Given the description of an element on the screen output the (x, y) to click on. 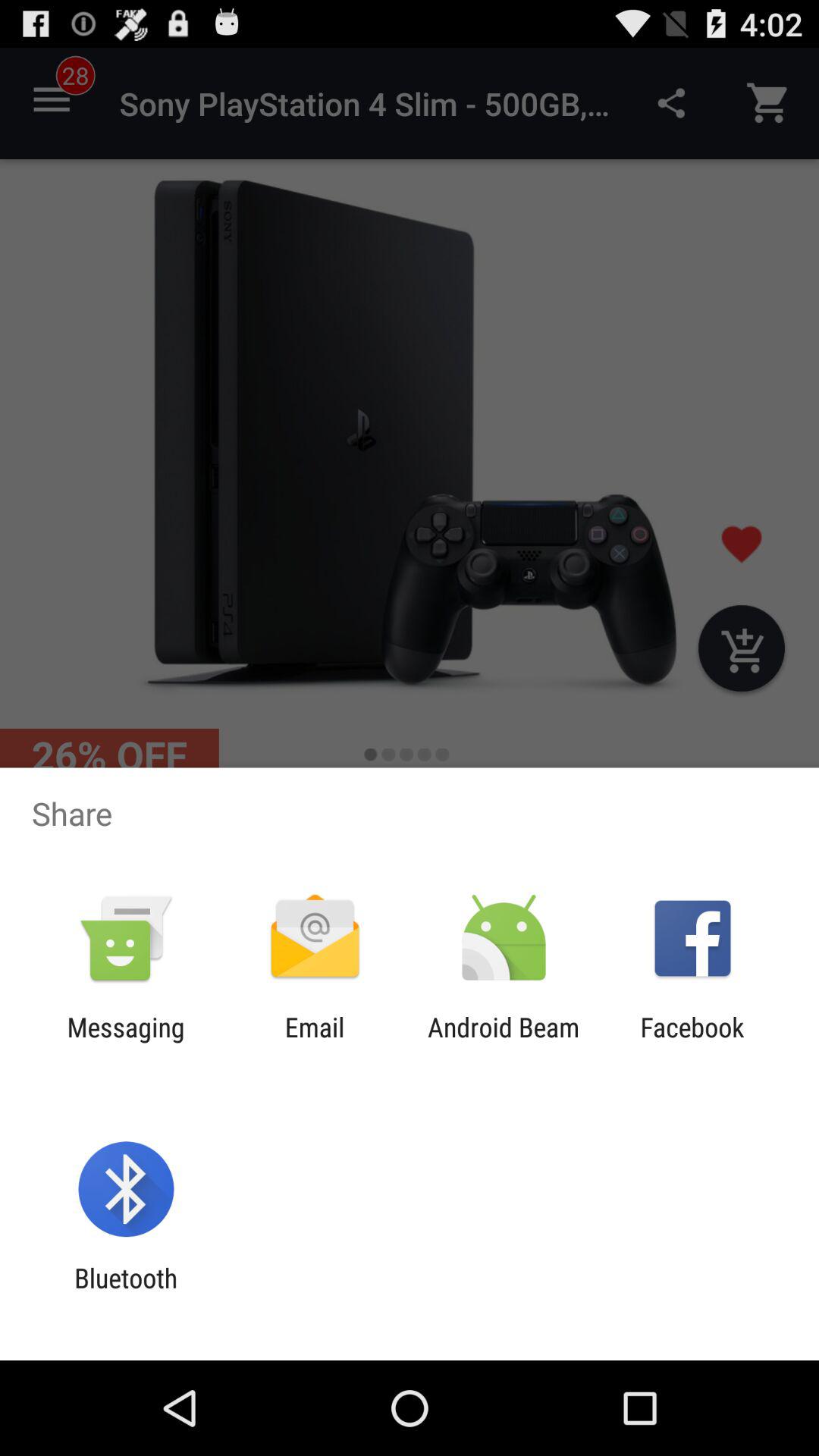
click item next to the email item (503, 1042)
